Given the description of an element on the screen output the (x, y) to click on. 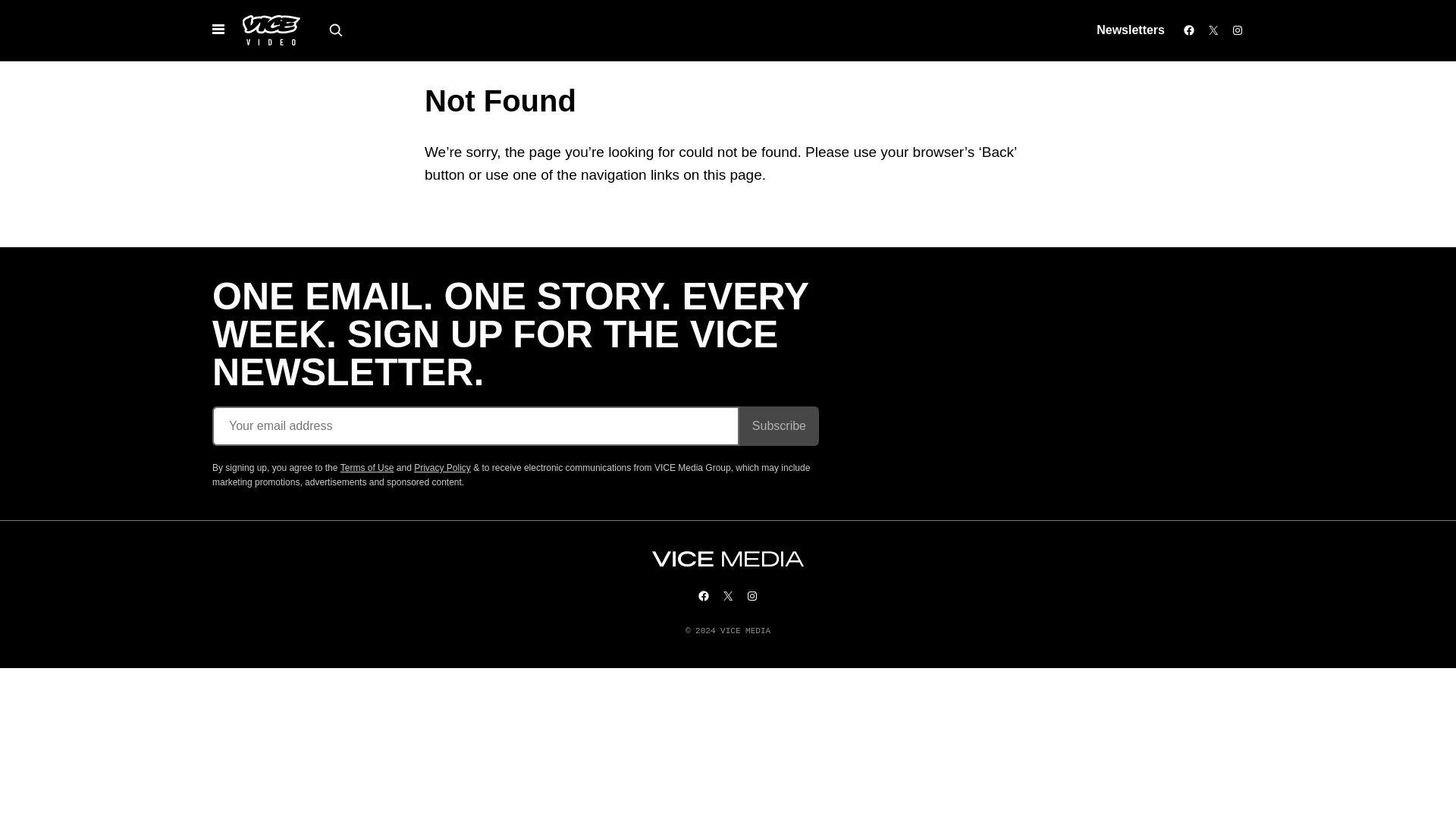
FACEBOOK (703, 595)
VICE MEDIA (727, 559)
X (1213, 30)
Facebook (1188, 30)
X (727, 595)
Instagram (1237, 30)
INSTAGRAM (751, 595)
Newsletters (1130, 29)
Terms of Use (367, 467)
Newsletter Signup Form (515, 425)
